Given the description of an element on the screen output the (x, y) to click on. 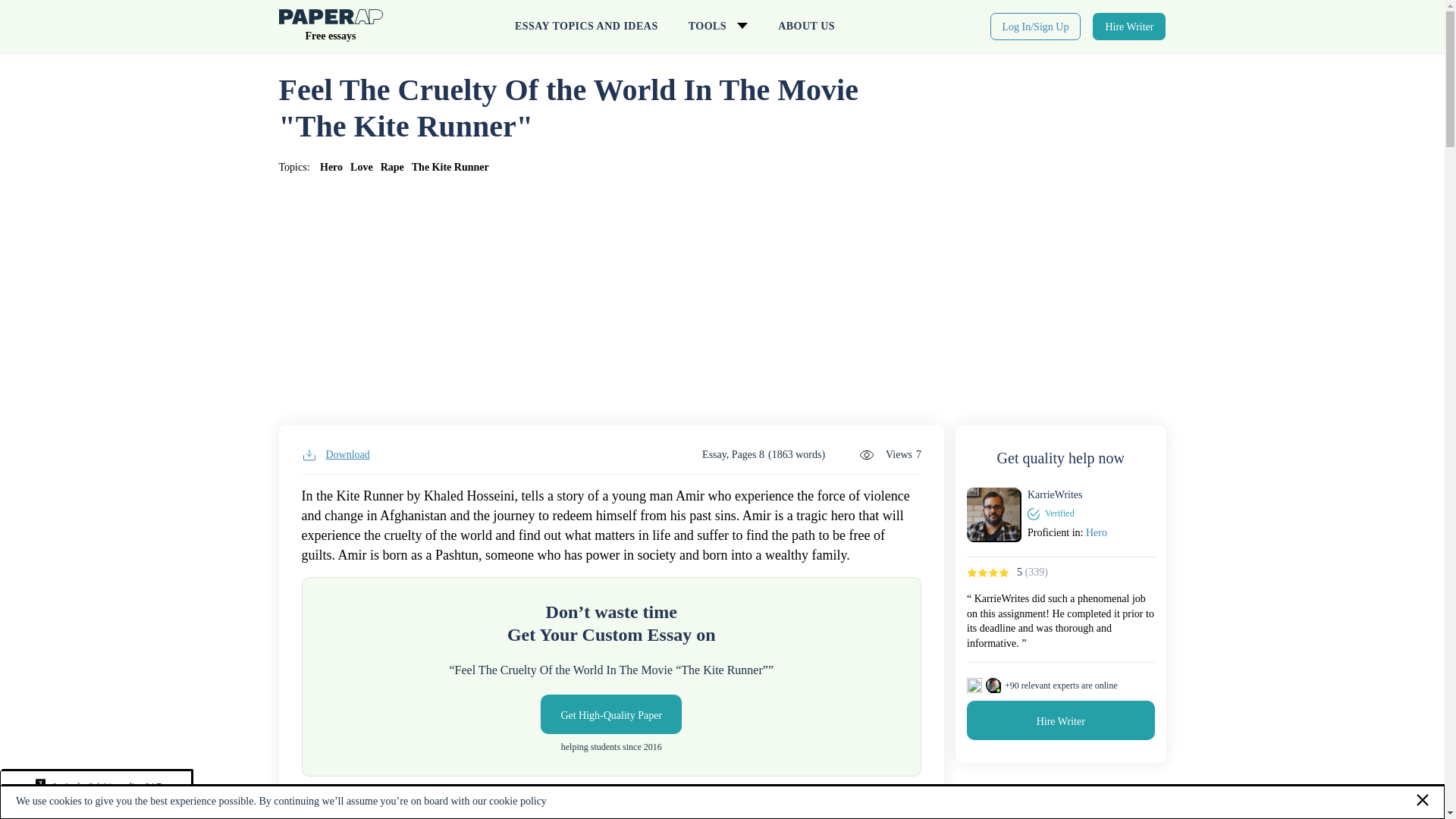
Free essays (330, 29)
The Kite Runner (450, 166)
Love (361, 166)
Download (335, 454)
Hero (1096, 532)
Get High-Quality Paper (610, 713)
Rape (392, 166)
ESSAY TOPICS AND IDEAS (585, 26)
Hire Writer (1129, 26)
ABOUT US (806, 26)
Hero (331, 166)
Hire Writer (1060, 720)
TOOLS (717, 26)
